Given the description of an element on the screen output the (x, y) to click on. 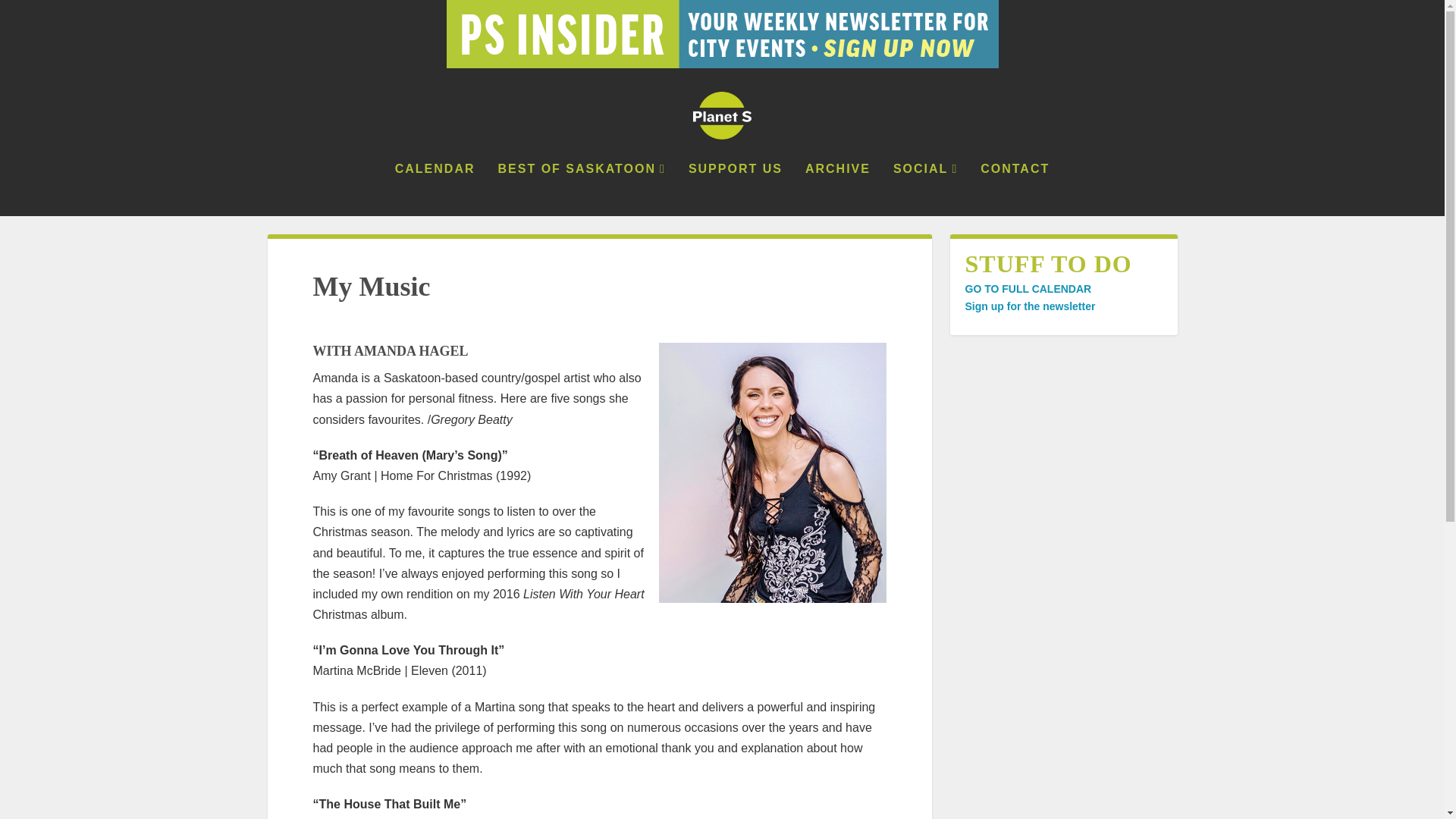
Sign up for the newsletter (1028, 306)
ARCHIVE (837, 189)
GO TO FULL CALENDAR (1026, 288)
CALENDAR (435, 189)
SOCIAL (925, 189)
BEST OF SASKATOON (581, 189)
CONTACT (1014, 189)
SUPPORT US (735, 189)
